Given the description of an element on the screen output the (x, y) to click on. 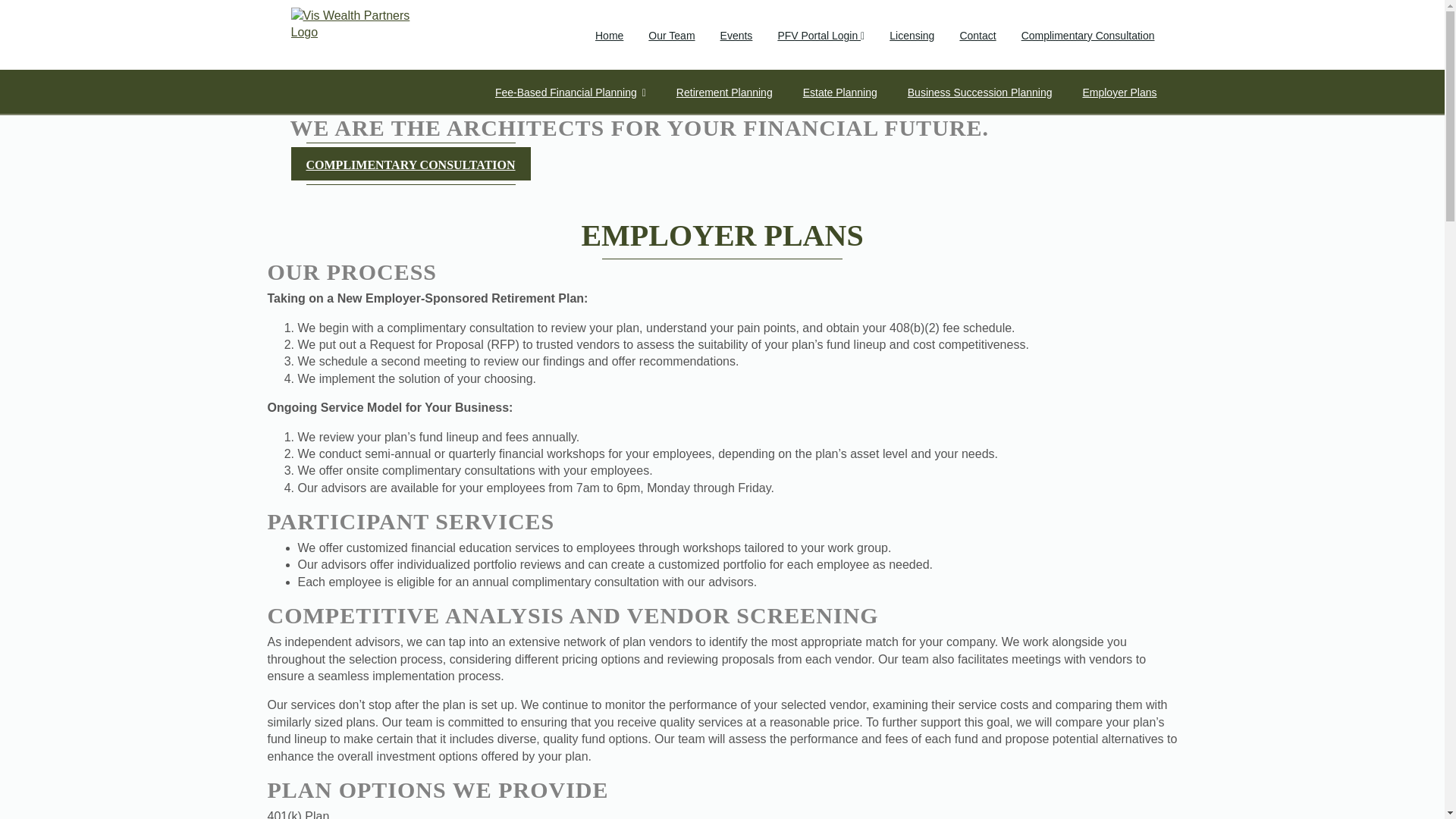
Employer Plans (1118, 92)
PFV Portal Login (820, 34)
Estate Planning (839, 92)
Our Team (670, 34)
Licensing (911, 34)
COMPLIMENTARY CONSULTATION (410, 163)
Retirement Planning (724, 92)
Business Succession Planning (979, 92)
Home (609, 34)
Events (736, 34)
